Given the description of an element on the screen output the (x, y) to click on. 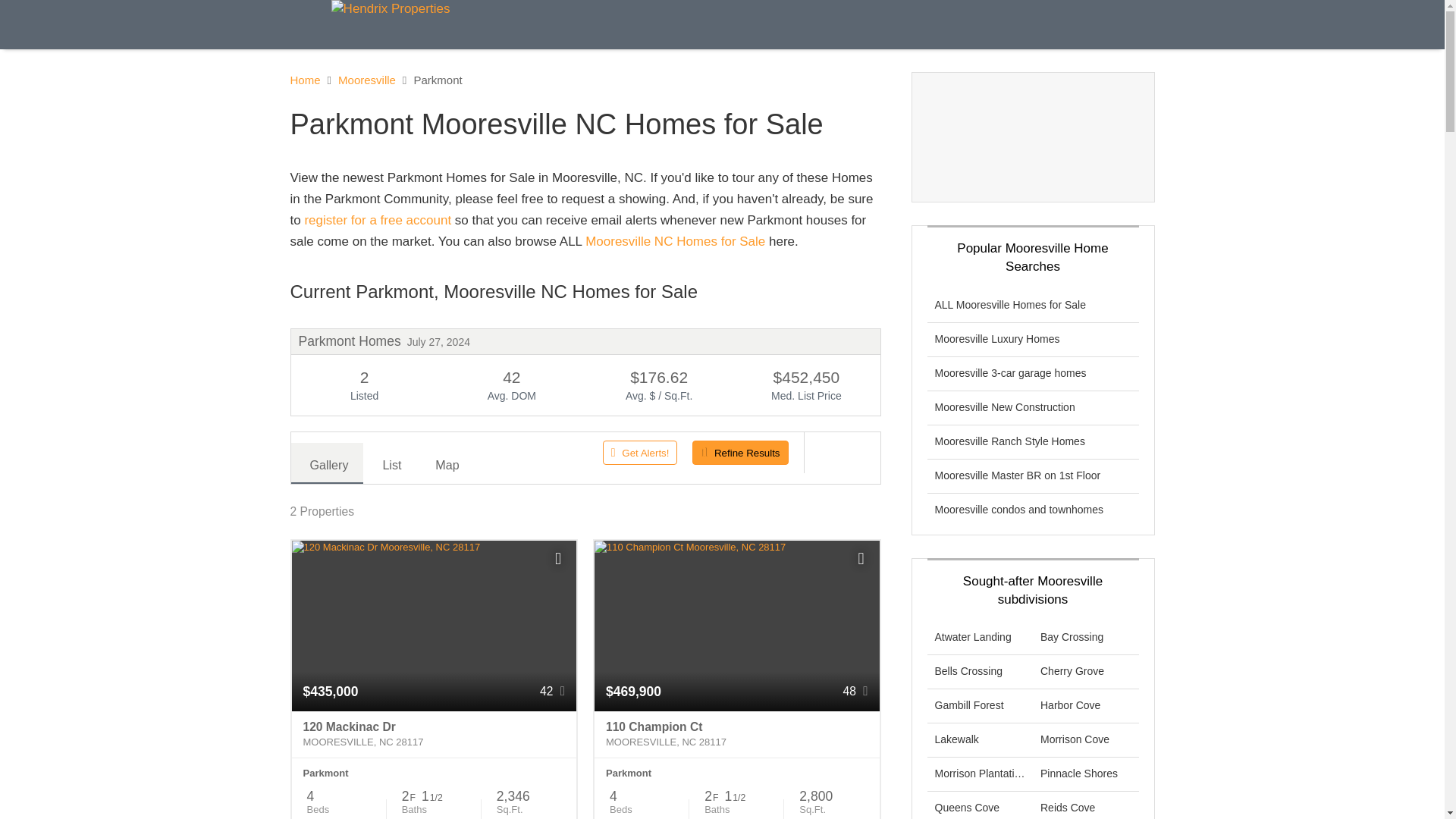
110 Champion Ct Mooresville,  NC 28117 (736, 734)
120 Mackinac Dr Mooresville,  NC 28117 (433, 734)
